Given the description of an element on the screen output the (x, y) to click on. 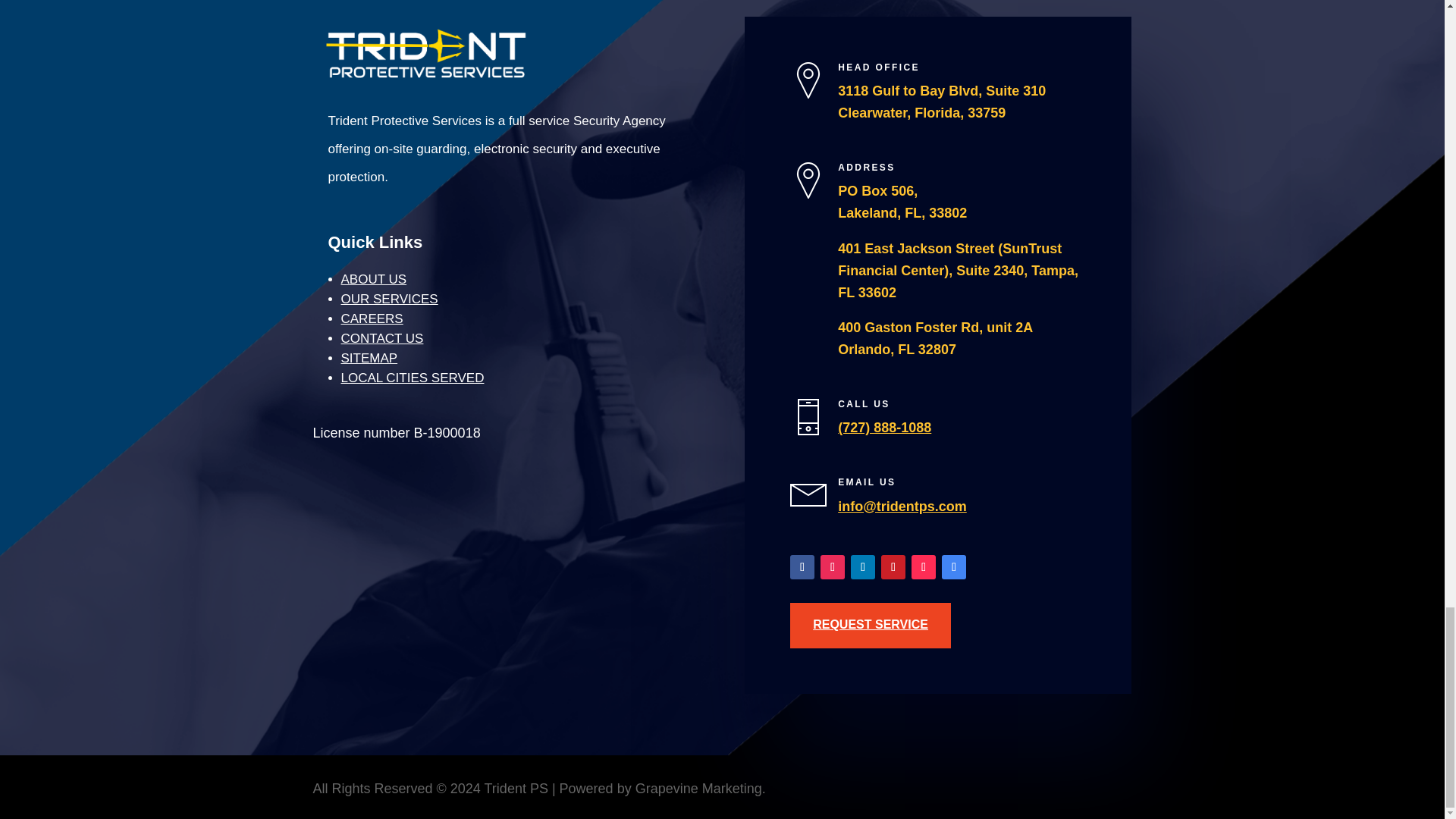
SITEMAP (368, 358)
LOCAL CITIES SERVED (412, 377)
OUR SERVICES (389, 298)
CONTACT US (381, 338)
Follow on LinkedIn (862, 567)
Follow on TikTok (923, 567)
Follow on Pinterest (892, 567)
CAREERS (371, 318)
Follow on Google (954, 567)
Follow on Instagram (832, 567)
ABOUT US (373, 278)
Follow on Facebook (801, 567)
